Given the description of an element on the screen output the (x, y) to click on. 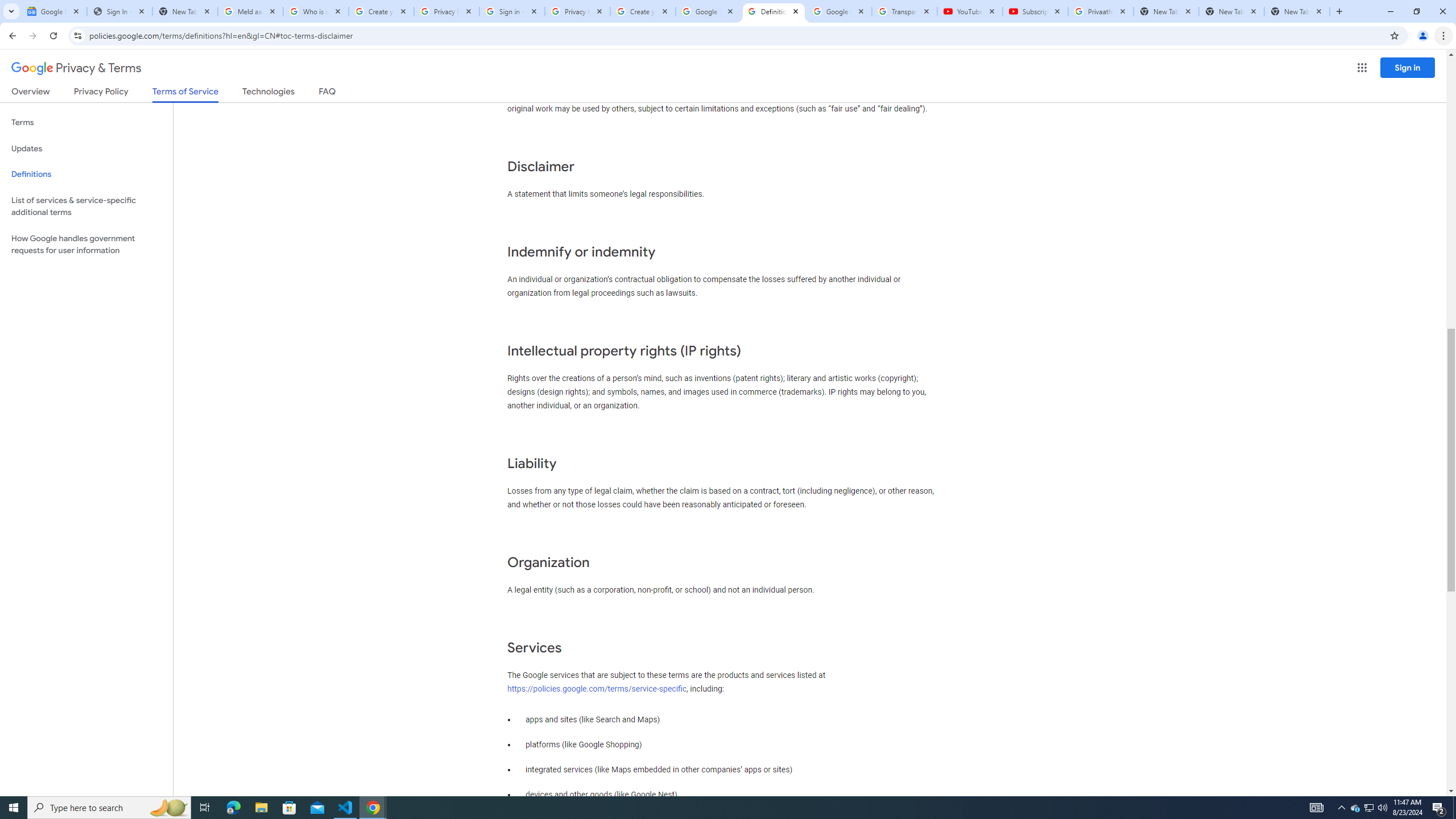
Terms of Service (184, 94)
